Given the description of an element on the screen output the (x, y) to click on. 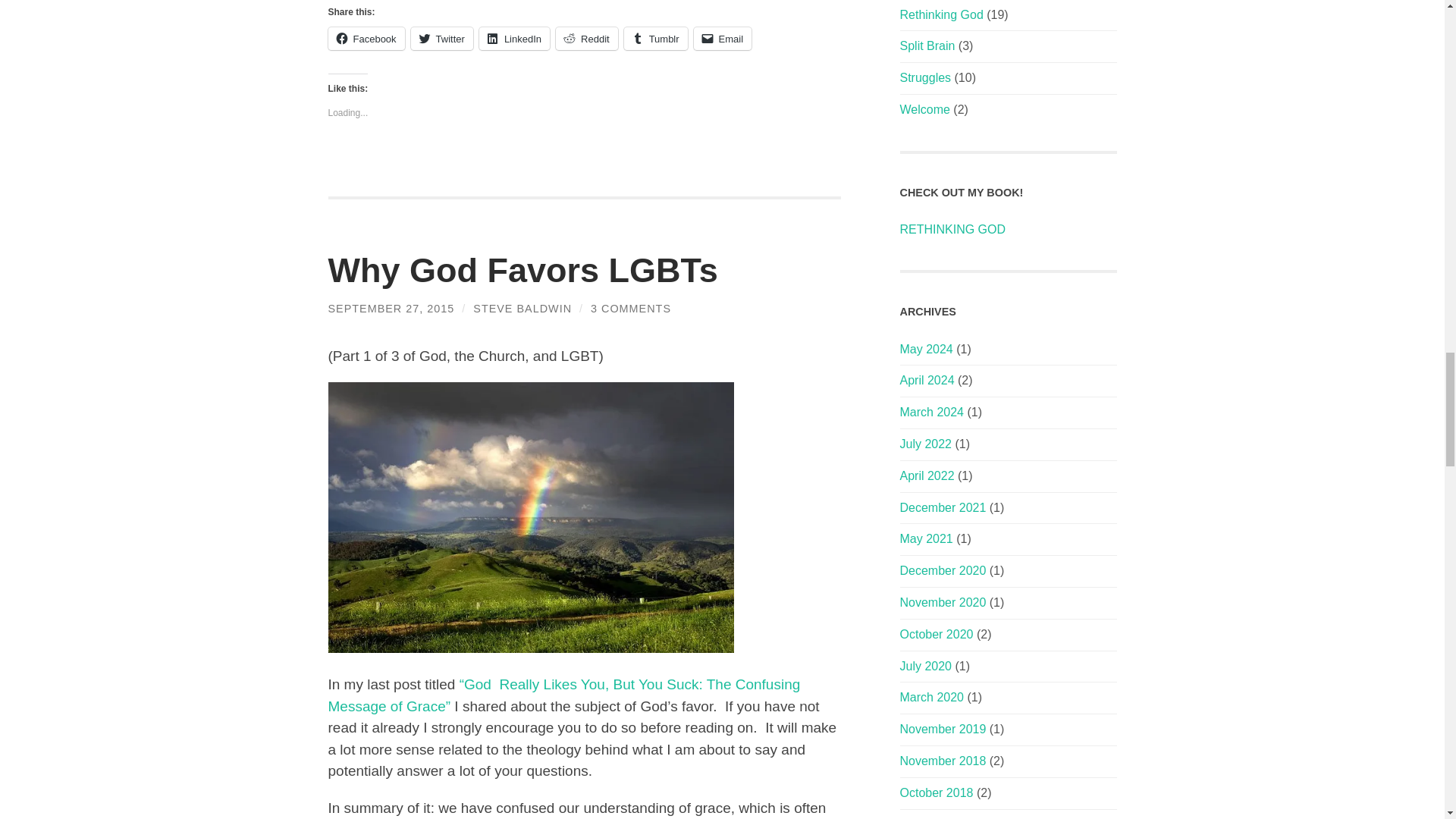
Click to share on Facebook (365, 38)
Click to share on Reddit (586, 38)
Click to share on Tumblr (655, 38)
Tumblr (655, 38)
STEVE BALDWIN (522, 308)
LinkedIn (514, 38)
Click to share on LinkedIn (514, 38)
Click to email a link to a friend (723, 38)
SEPTEMBER 27, 2015 (390, 308)
Click to share on Twitter (441, 38)
Why God Favors LGBTs (522, 269)
Facebook (365, 38)
Email (723, 38)
Reddit (586, 38)
Twitter (441, 38)
